Given the description of an element on the screen output the (x, y) to click on. 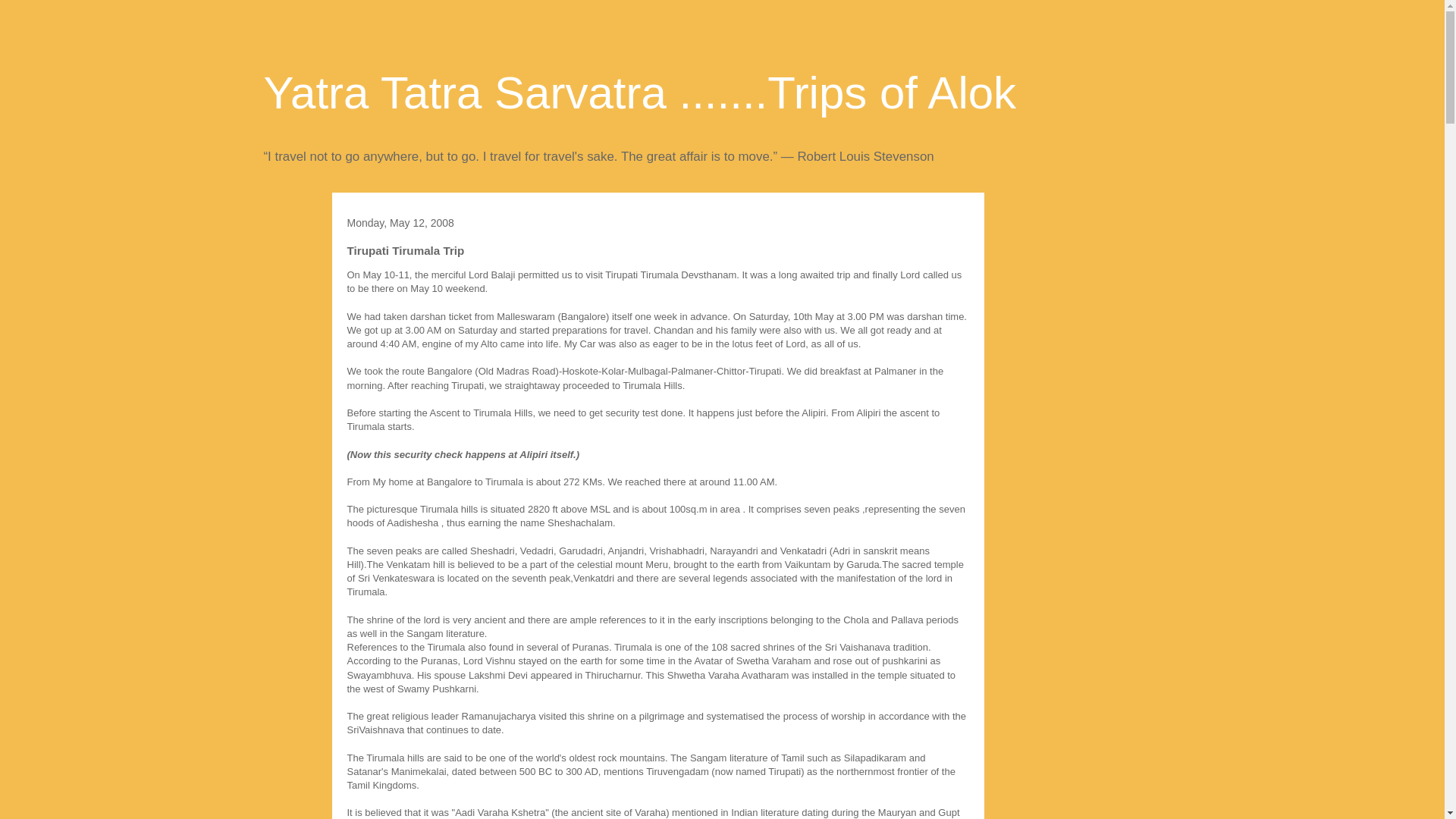
Yatra Tatra Sarvatra .......Trips of Alok (639, 92)
